Given the description of an element on the screen output the (x, y) to click on. 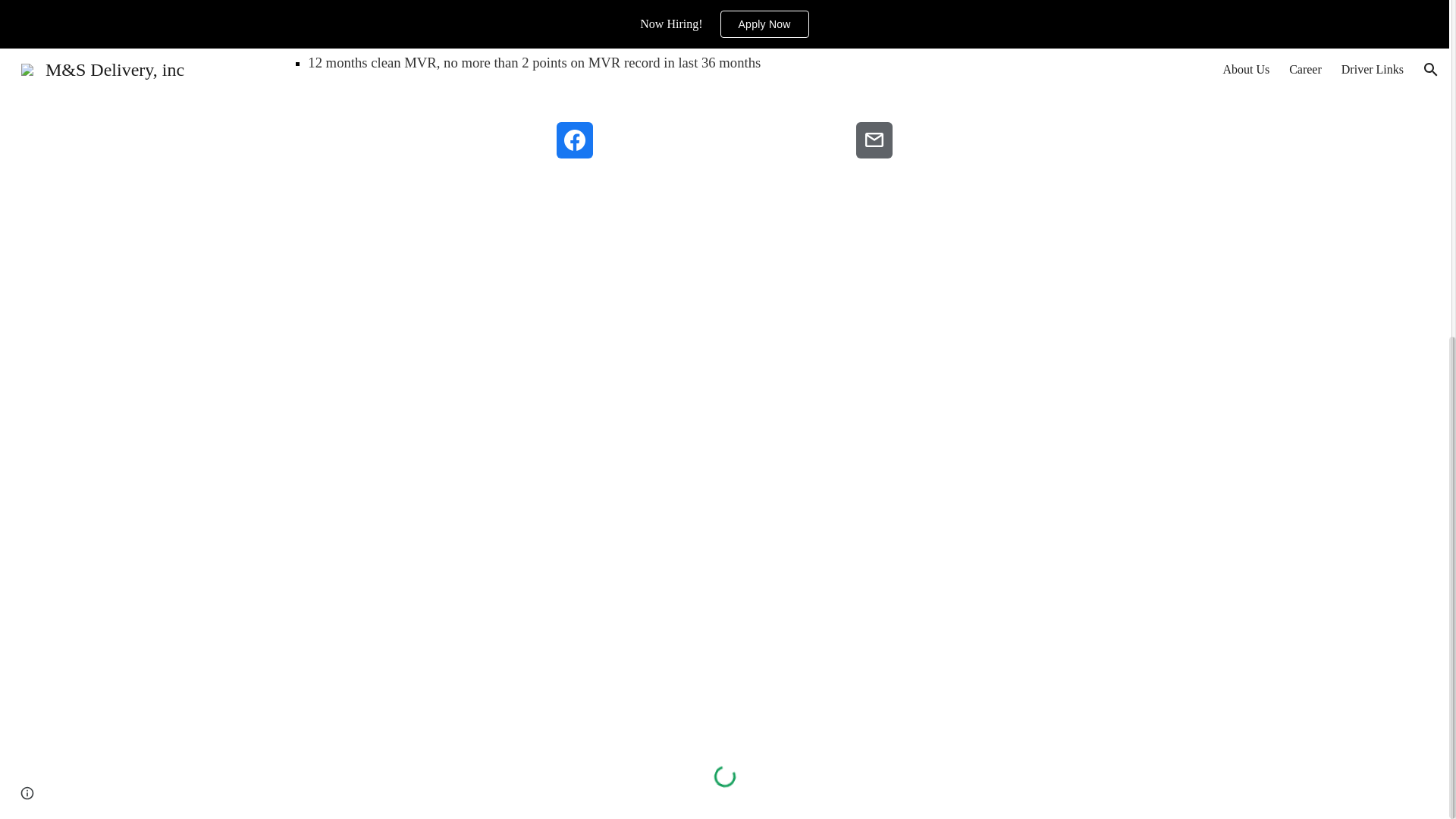
Custom embed (723, 775)
